Given the description of an element on the screen output the (x, y) to click on. 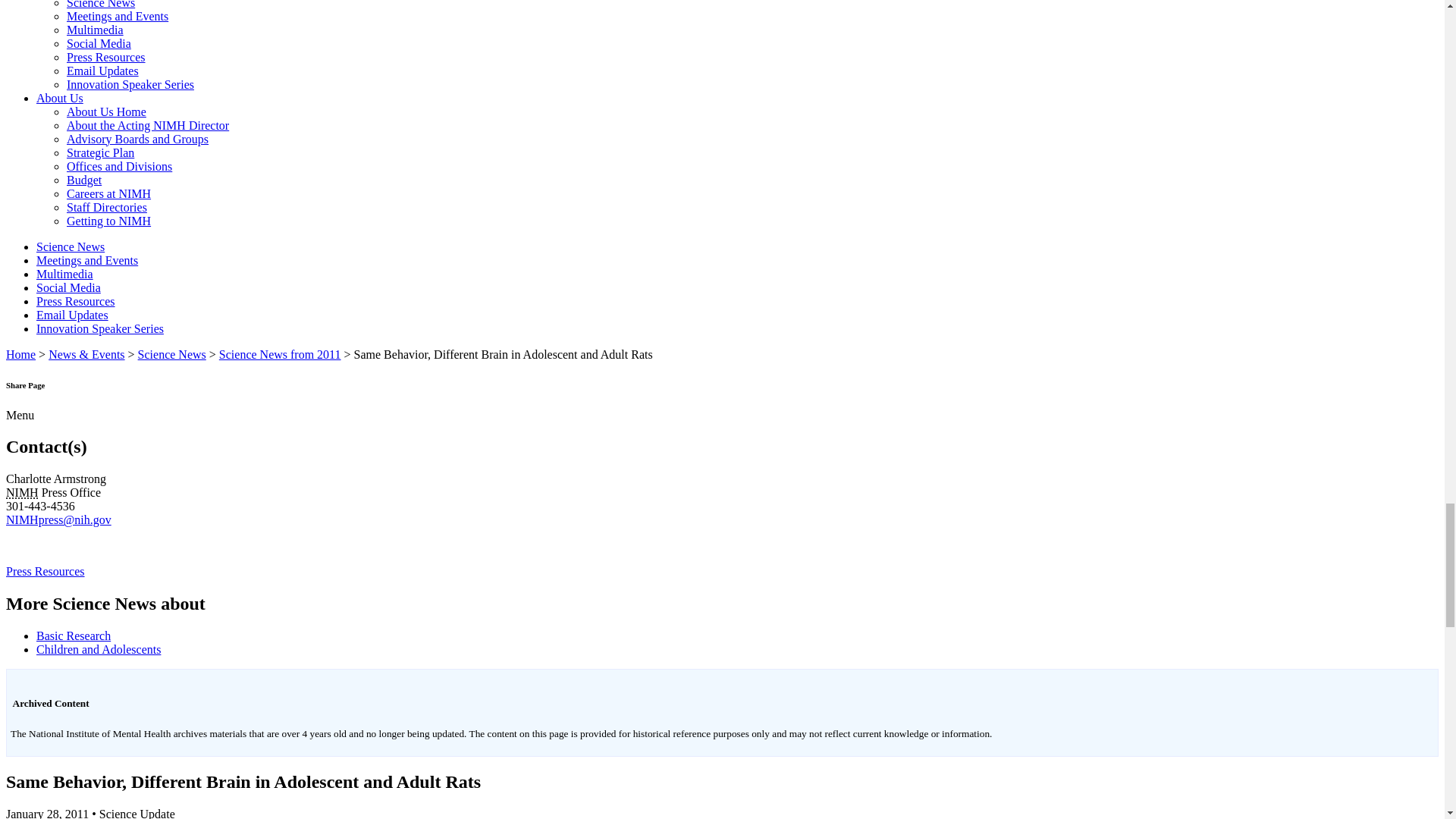
National Institute of Mental Health (22, 492)
